Given the description of an element on the screen output the (x, y) to click on. 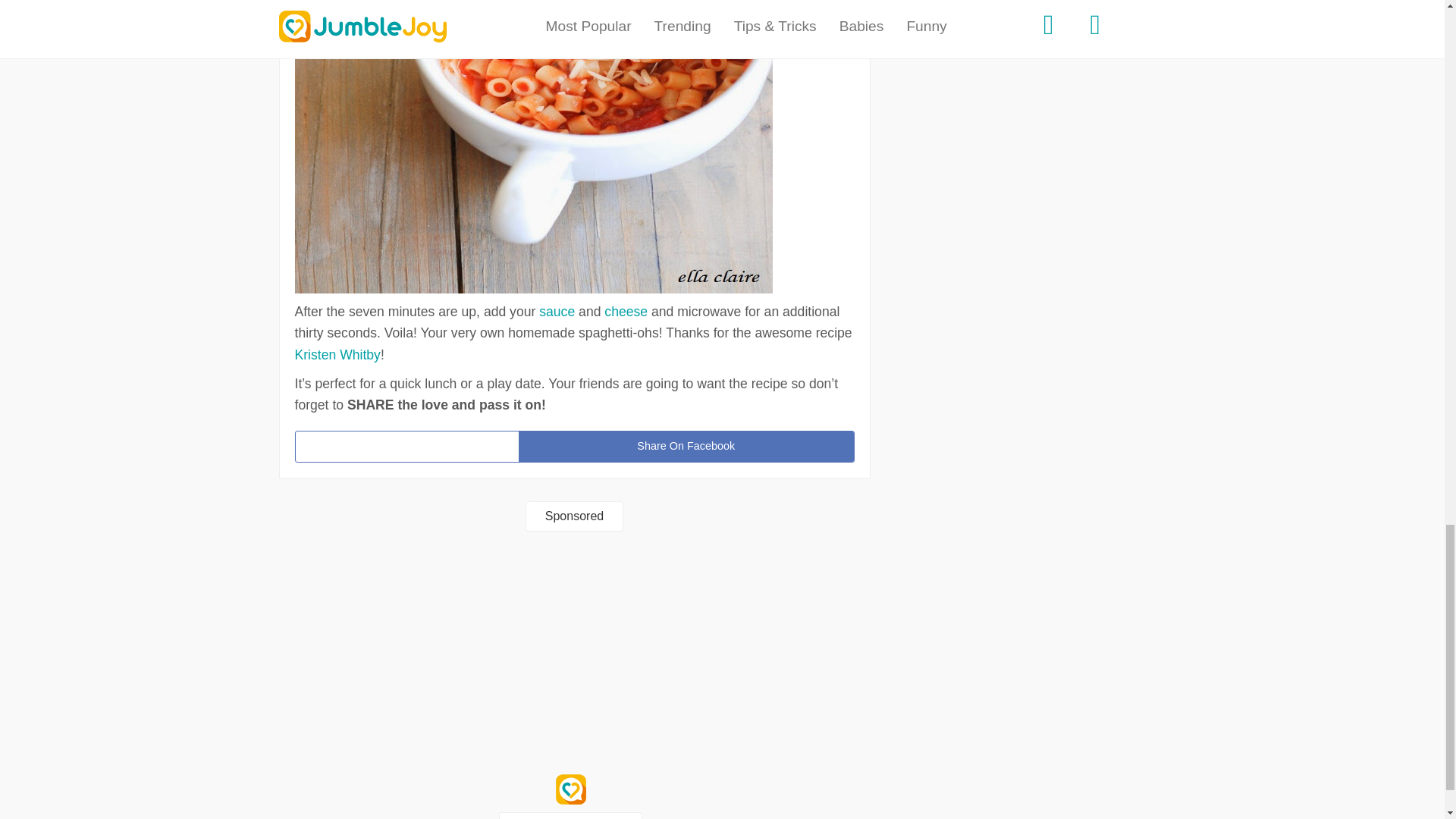
Advertisement (574, 653)
sauce (556, 311)
Share On Facebook (685, 446)
Delicious Ground Beef Macaroni And Cheese Casserole (625, 311)
cheese (625, 311)
Kristen Whitby (337, 354)
